Given the description of an element on the screen output the (x, y) to click on. 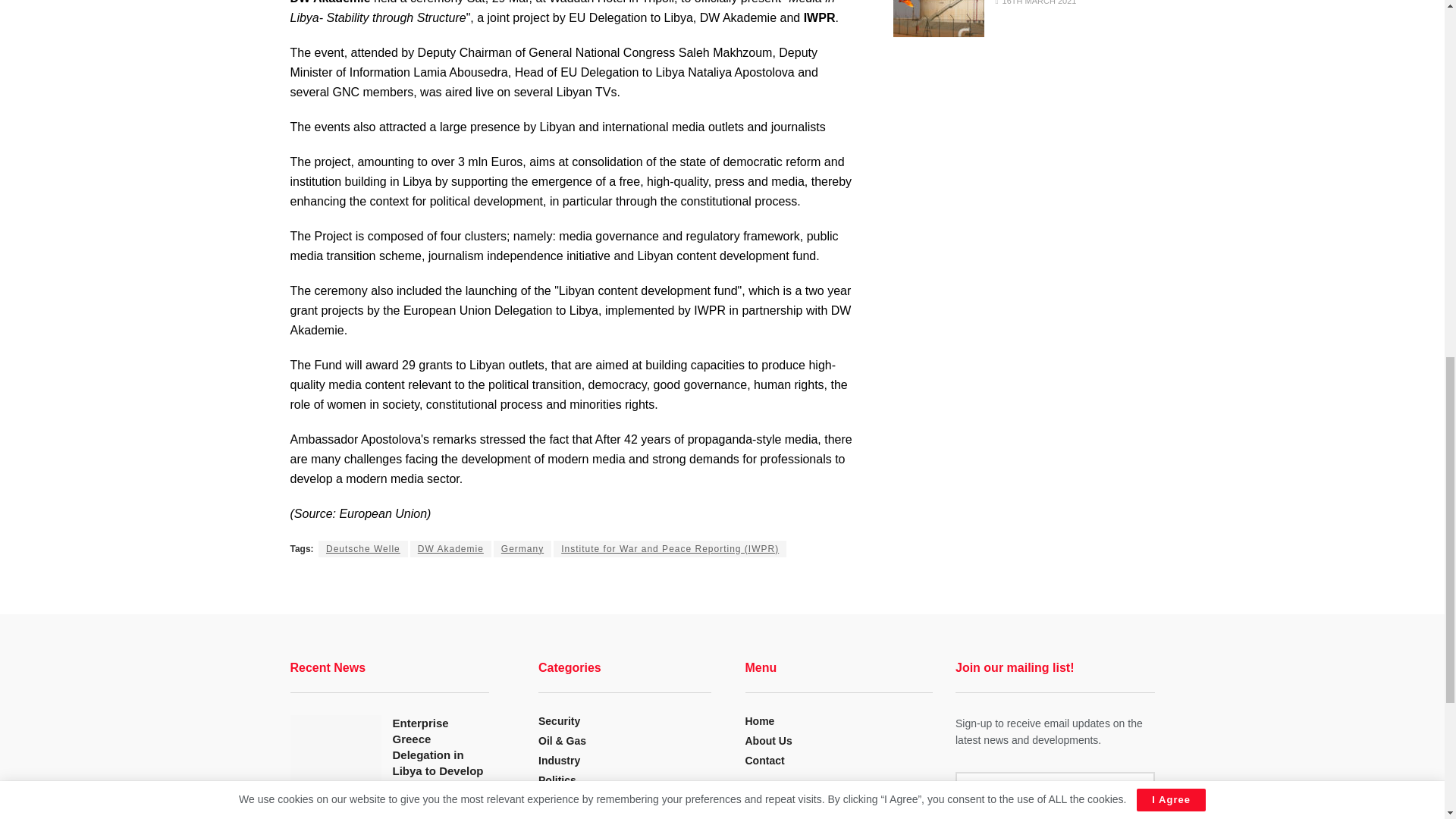
Germany (522, 547)
Deutsche Welle (362, 547)
Enter your email (1054, 787)
DW Akademie (451, 547)
